Given the description of an element on the screen output the (x, y) to click on. 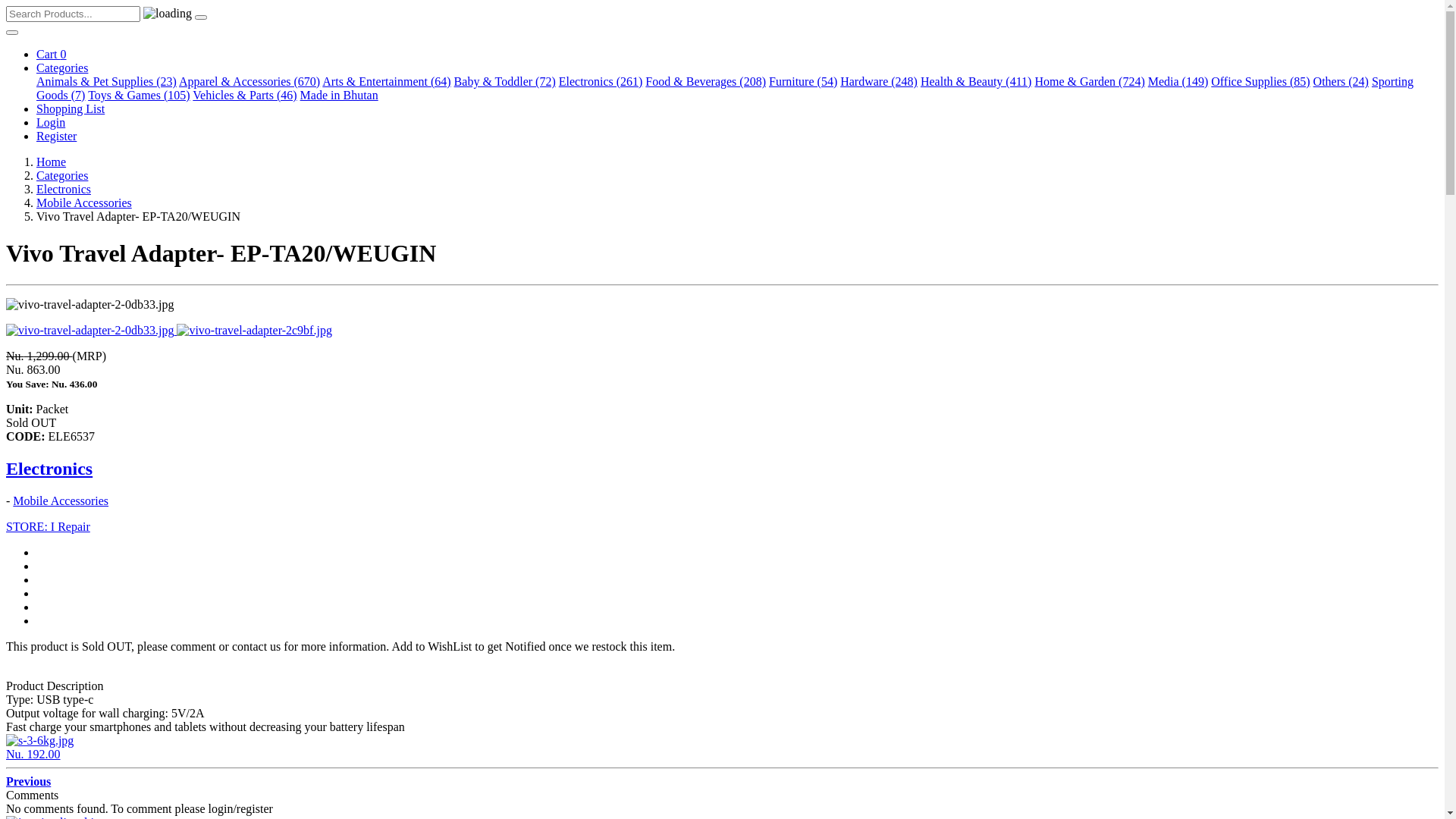
Categories Element type: text (61, 175)
Health & Beauty (411) Element type: text (975, 81)
Media (149) Element type: text (1178, 81)
Animals & Pet Supplies (23) Element type: text (106, 81)
Food & Beverages (208) Element type: text (705, 81)
Shopping List Element type: text (70, 108)
Others (24) Element type: text (1340, 81)
Vehicles & Parts (46) Element type: text (244, 94)
Electronics Element type: text (63, 188)
Mobile Accessories Element type: text (83, 202)
STORE: I Repair Element type: text (48, 526)
Office Supplies (85) Element type: text (1260, 81)
Arts & Entertainment (64) Element type: text (386, 81)
Electronics Element type: text (49, 468)
Home Element type: text (50, 161)
Furniture (54) Element type: text (802, 81)
Home & Garden (724) Element type: text (1089, 81)
Login Element type: text (50, 122)
Made in Bhutan Element type: text (339, 94)
Hardware (248) Element type: text (878, 81)
Vivo Travel Adapter- EP-TA20/WEUGIN Element type: hover (253, 329)
Apparel & Accessories (670) Element type: text (249, 81)
Toys & Games (105) Element type: text (138, 94)
Electronics (261) Element type: text (600, 81)
Cart 0 Element type: text (51, 53)
Baby & Toddler (72) Element type: text (504, 81)
Mobile Accessories Element type: text (60, 500)
Vivo Travel Adapter- EP-TA20/WEUGIN Element type: hover (91, 329)
Nu. 192.00
Previous Element type: text (722, 760)
Sporting Goods (7) Element type: text (724, 88)
Register Element type: text (56, 135)
Categories Element type: text (61, 67)
